Given the description of an element on the screen output the (x, y) to click on. 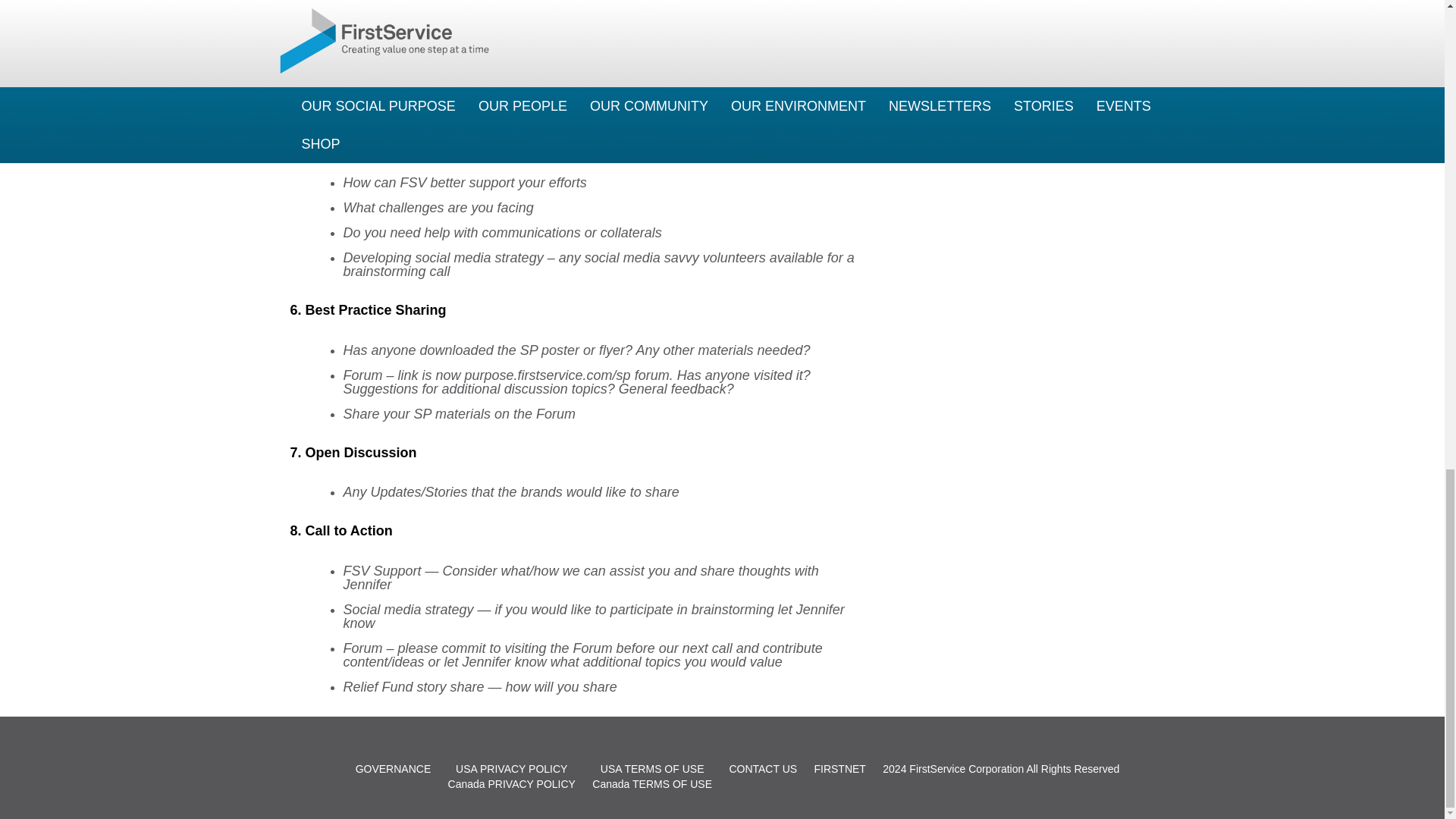
FirstService Corporation (965, 768)
Canada PRIVACY POLICY (511, 784)
USA TERMS OF USE (651, 768)
Contact FirstService (762, 768)
GOVERNANCE (392, 768)
USA PRIVACY POLICY (511, 768)
FirstService Governance (392, 768)
FIRSTNET (838, 768)
FirstService Terms Of Use USA (651, 768)
FirstService Terms Of Use Canada (651, 784)
FirstService Corporation (965, 768)
FirstService Privacy Policy (511, 784)
CONTACT US (762, 768)
FirstService Privacy Policy (511, 768)
Canada TERMS OF USE (651, 784)
